Given the description of an element on the screen output the (x, y) to click on. 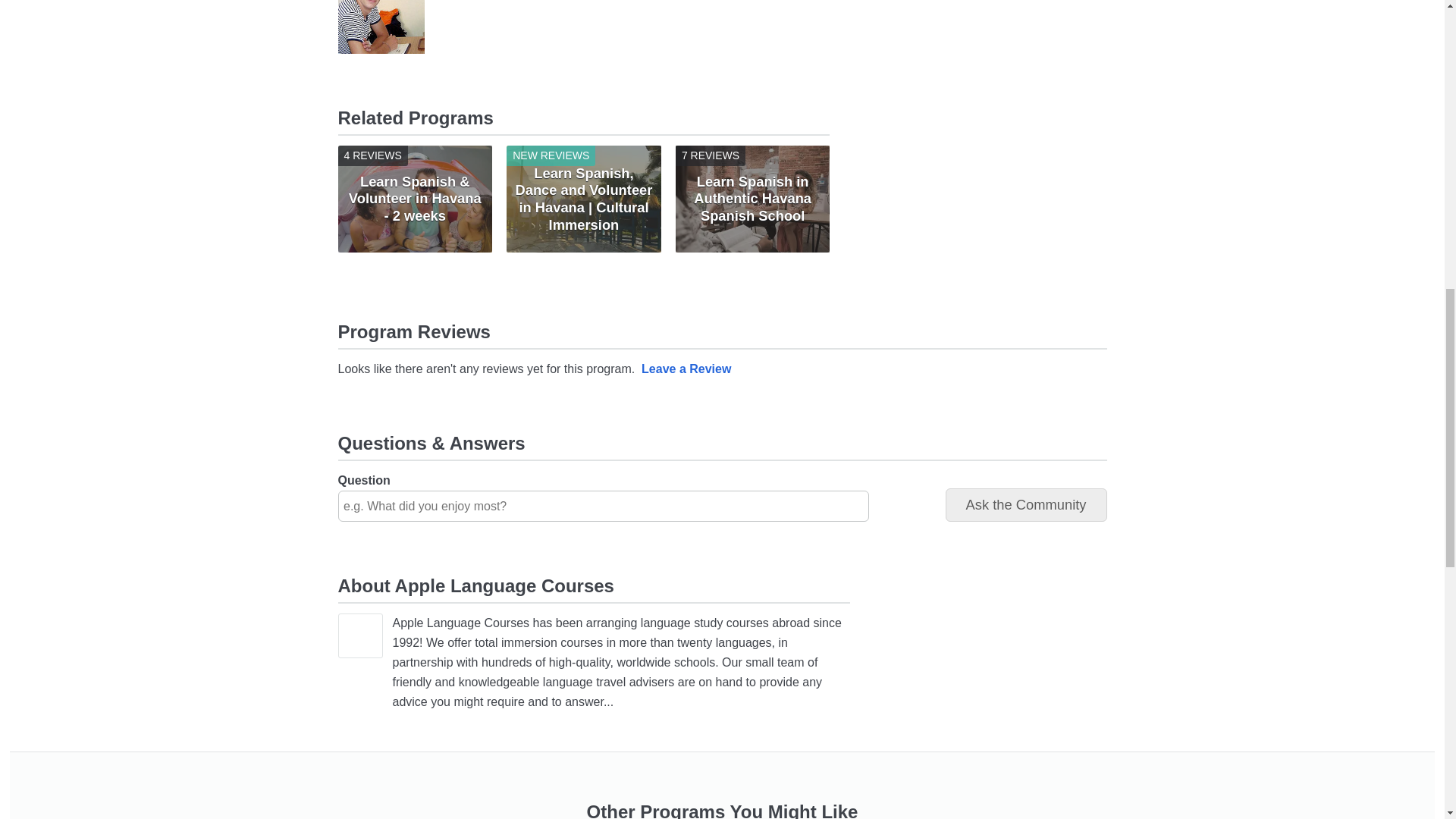
Apple Language Courses (359, 635)
Ask the Community (1025, 505)
Leave a Review (686, 368)
Barclay Languages (752, 198)
Apple Language Courses (381, 27)
Apple Language Courses (381, 42)
